Given the description of an element on the screen output the (x, y) to click on. 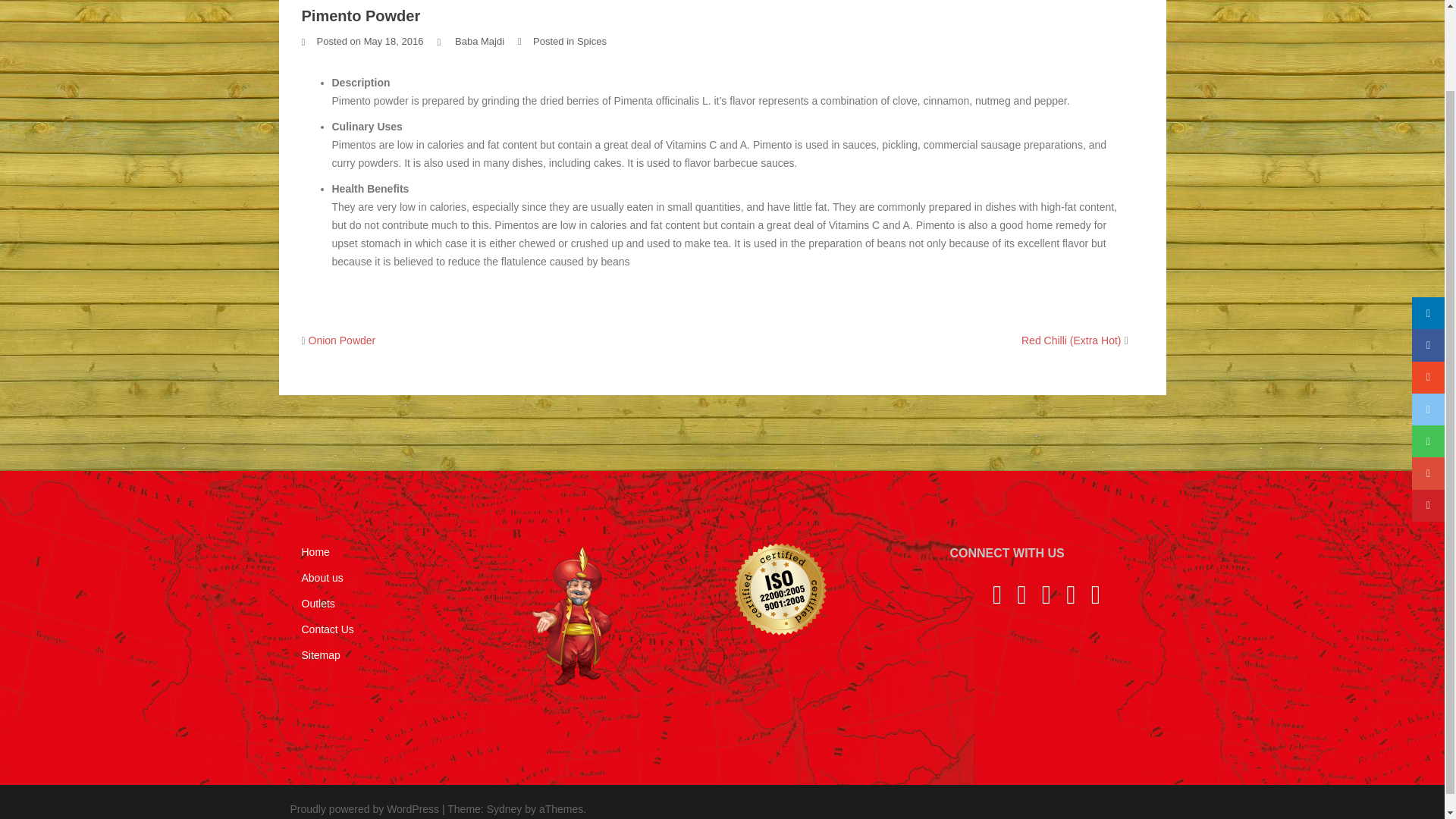
Sydney (504, 808)
May 18, 2016 (393, 41)
Sitemap (320, 654)
Baba Majdi (478, 41)
Proudly powered by WordPress (364, 808)
Onion Powder (341, 340)
Spices (591, 41)
Outlets (317, 603)
About us (322, 577)
Home (315, 551)
